Given the description of an element on the screen output the (x, y) to click on. 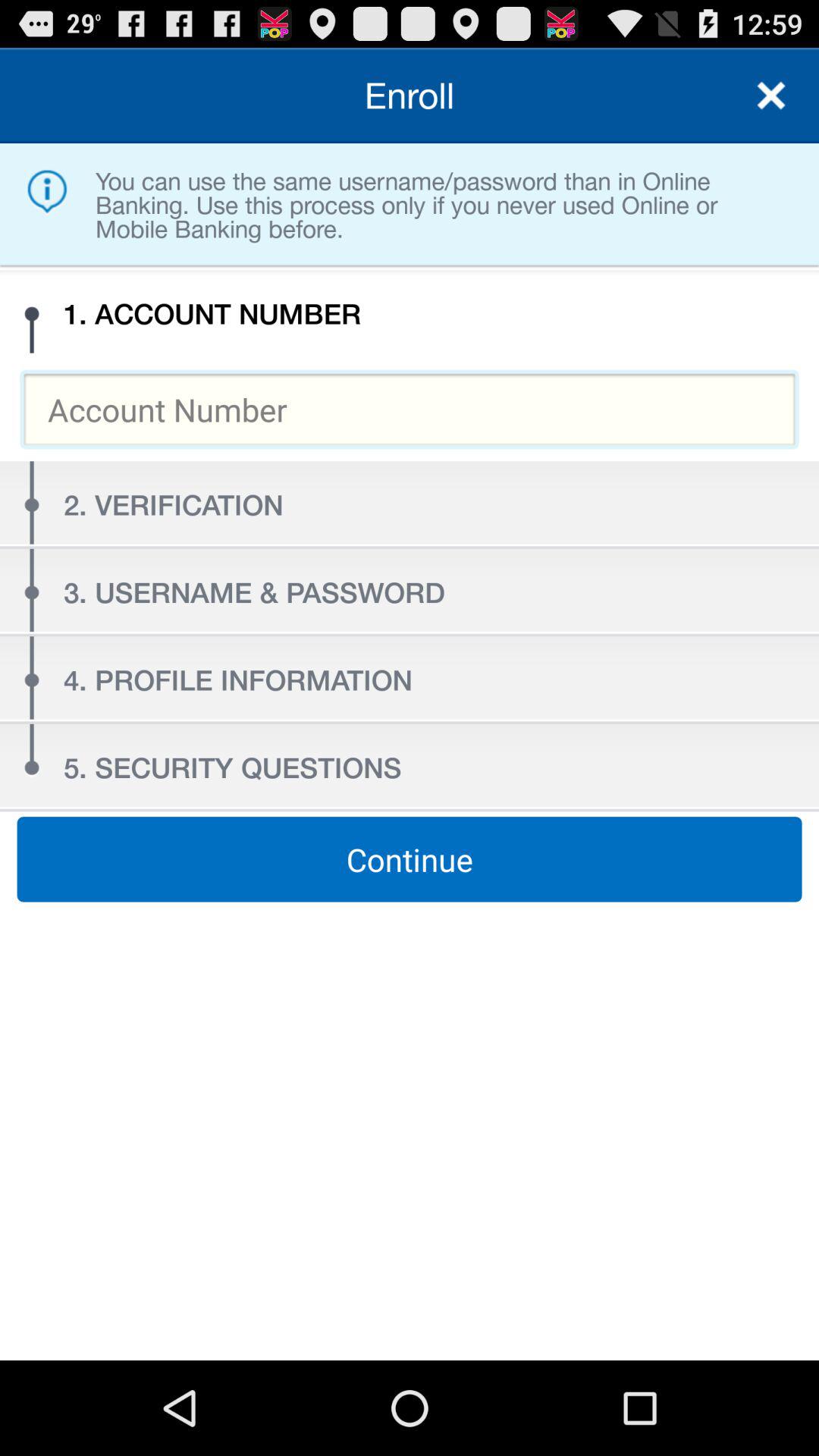
click the icon below the 5. security questions item (409, 859)
